Given the description of an element on the screen output the (x, y) to click on. 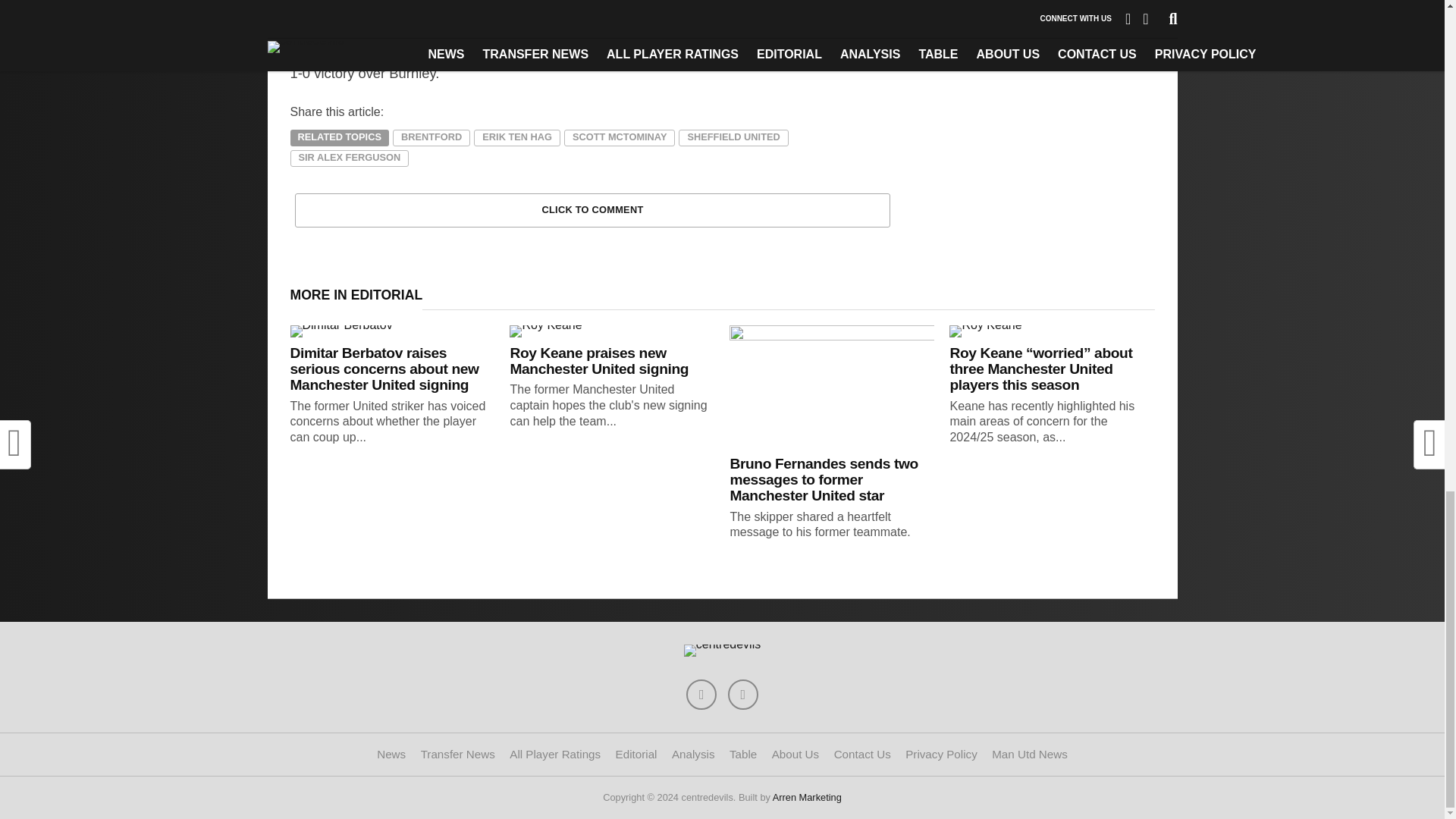
SHEFFIELD UNITED (732, 137)
SCOTT MCTOMINAY (619, 137)
BRENTFORD (431, 137)
ERIK TEN HAG (517, 137)
